Given the description of an element on the screen output the (x, y) to click on. 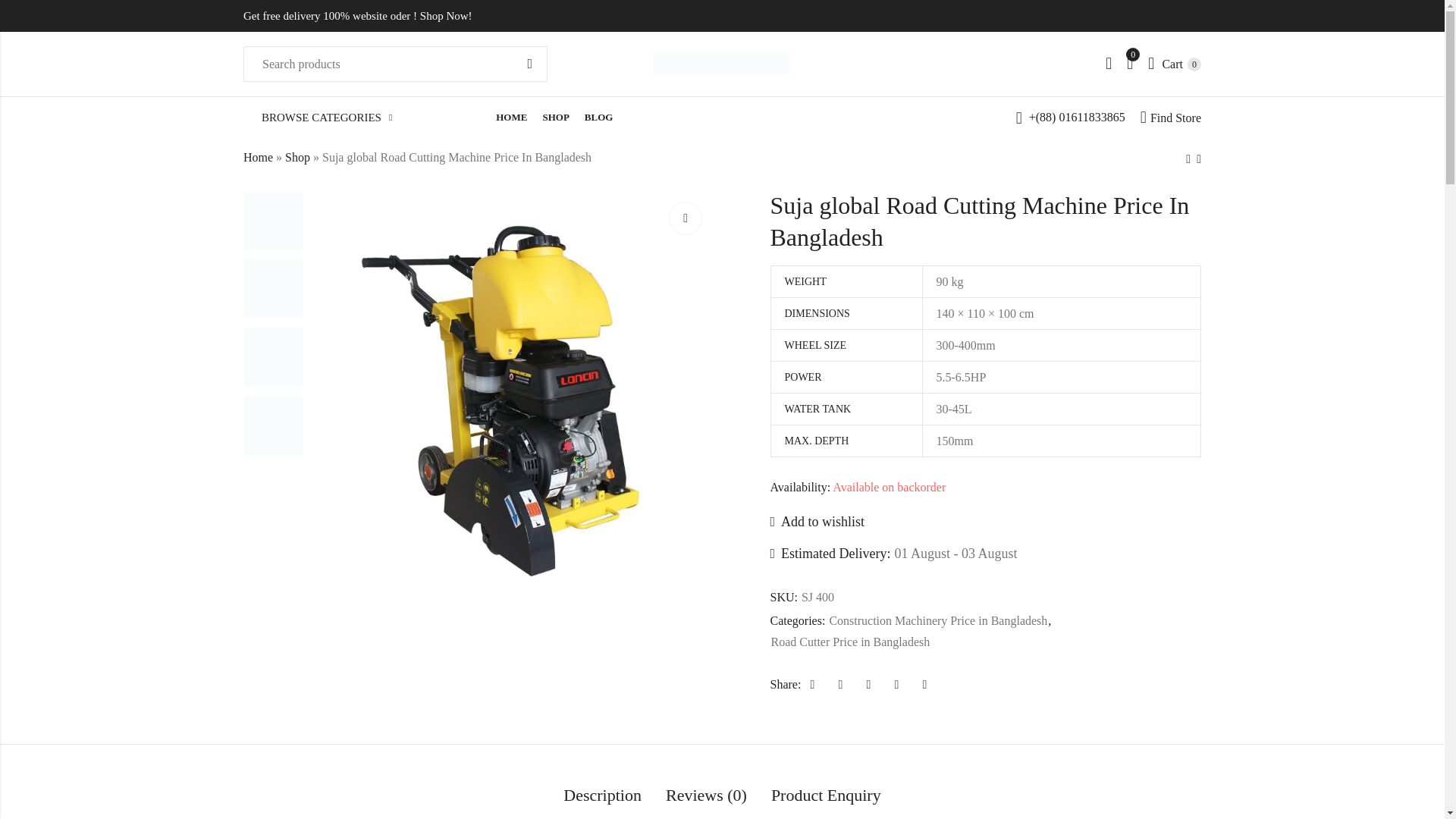
Add to wishlist (817, 522)
Search (529, 63)
Shop (297, 155)
Home (258, 155)
Find Store (1170, 118)
HOME (1174, 63)
SHOP (510, 118)
Construction Machinery Price in Bangladesh (555, 118)
Description (937, 620)
BLOG (602, 796)
Road Cutter Price in Bangladesh (598, 118)
Lightbox (850, 641)
